Given the description of an element on the screen output the (x, y) to click on. 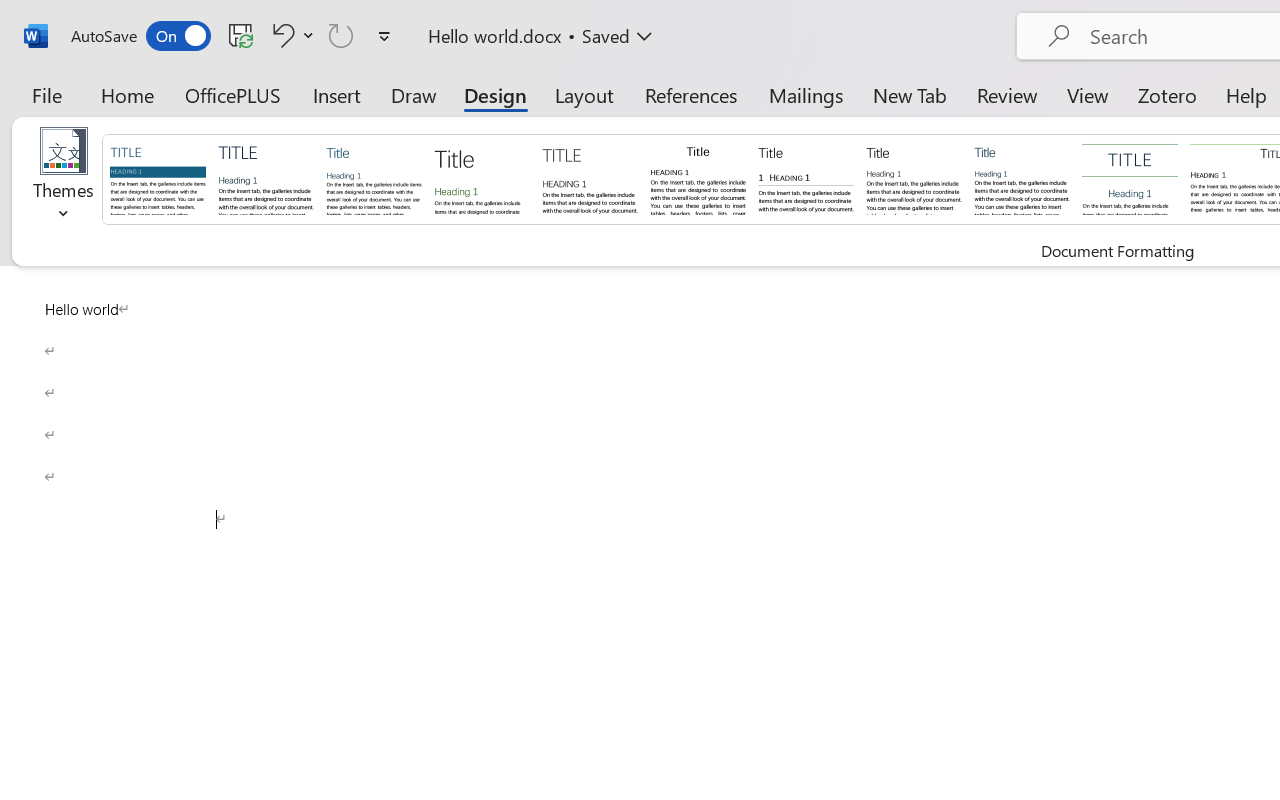
Customize Quick Access Toolbar (384, 35)
Basic (Stylish) (481, 178)
Draw (413, 94)
Insert (337, 94)
Layout (584, 94)
Document (157, 178)
Casual (1021, 178)
Undo Apply Quick Style Set (290, 35)
Quick Access Toolbar (233, 36)
References (690, 94)
Basic (Elegant) (266, 178)
Zotero (1166, 94)
File Tab (46, 94)
Basic (Simple) (373, 178)
